Given the description of an element on the screen output the (x, y) to click on. 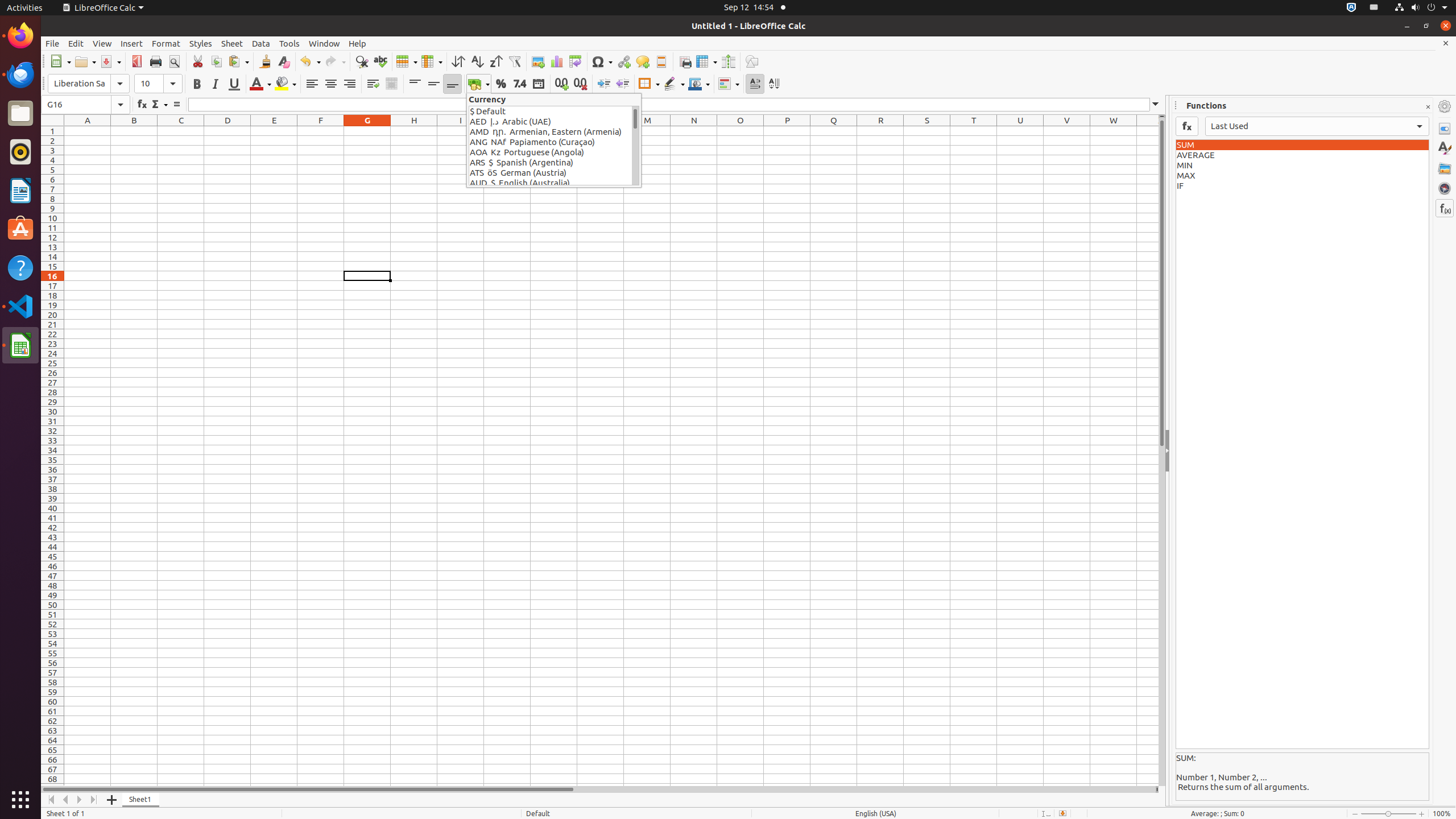
Open Element type: push-button (84, 61)
Navigator Element type: radio-button (1444, 188)
Align Bottom Element type: push-button (452, 83)
PDF Element type: push-button (136, 61)
Properties Element type: radio-button (1444, 128)
